Given the description of an element on the screen output the (x, y) to click on. 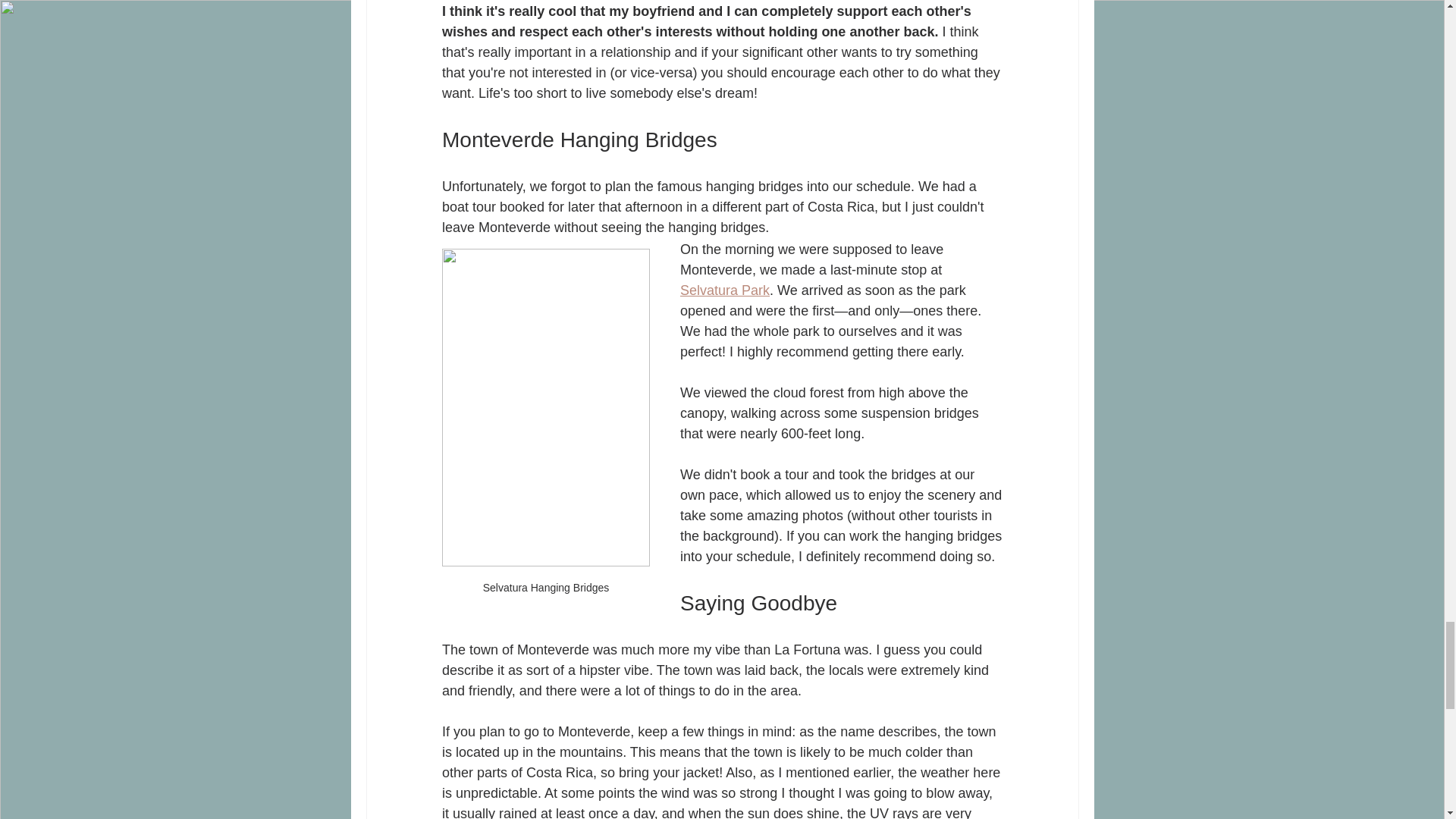
Selvatura Park (723, 290)
